Given the description of an element on the screen output the (x, y) to click on. 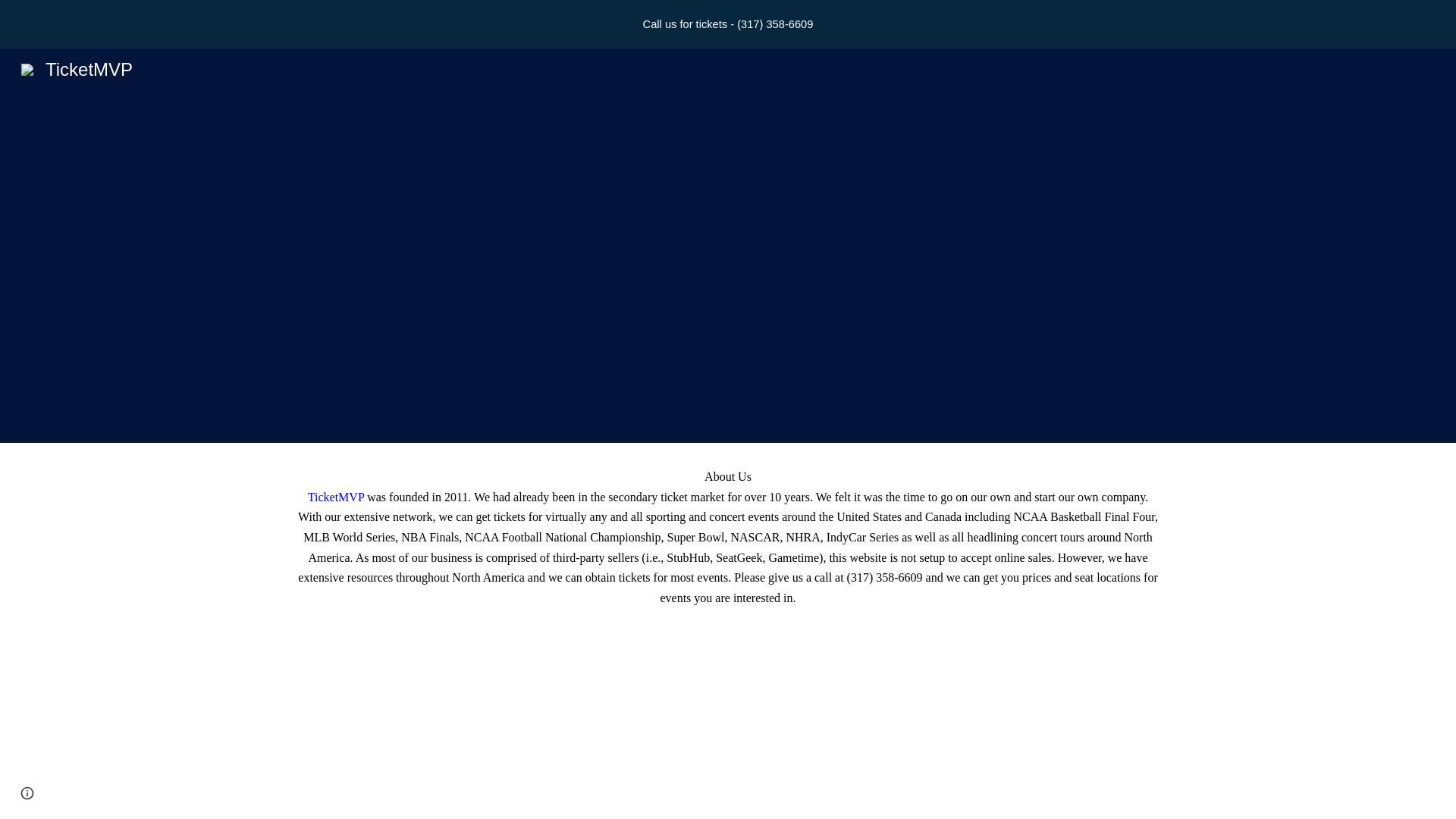
TicketMVP (76, 67)
